Given the description of an element on the screen output the (x, y) to click on. 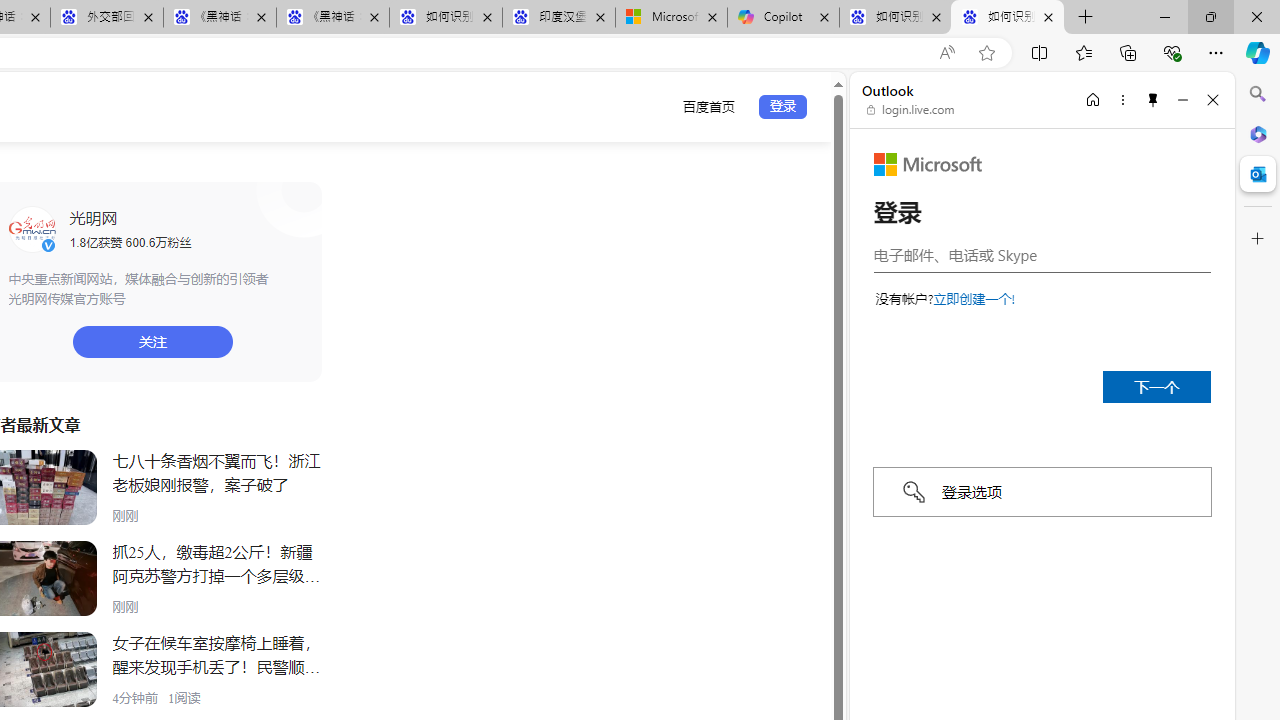
Copilot (783, 17)
